Given the description of an element on the screen output the (x, y) to click on. 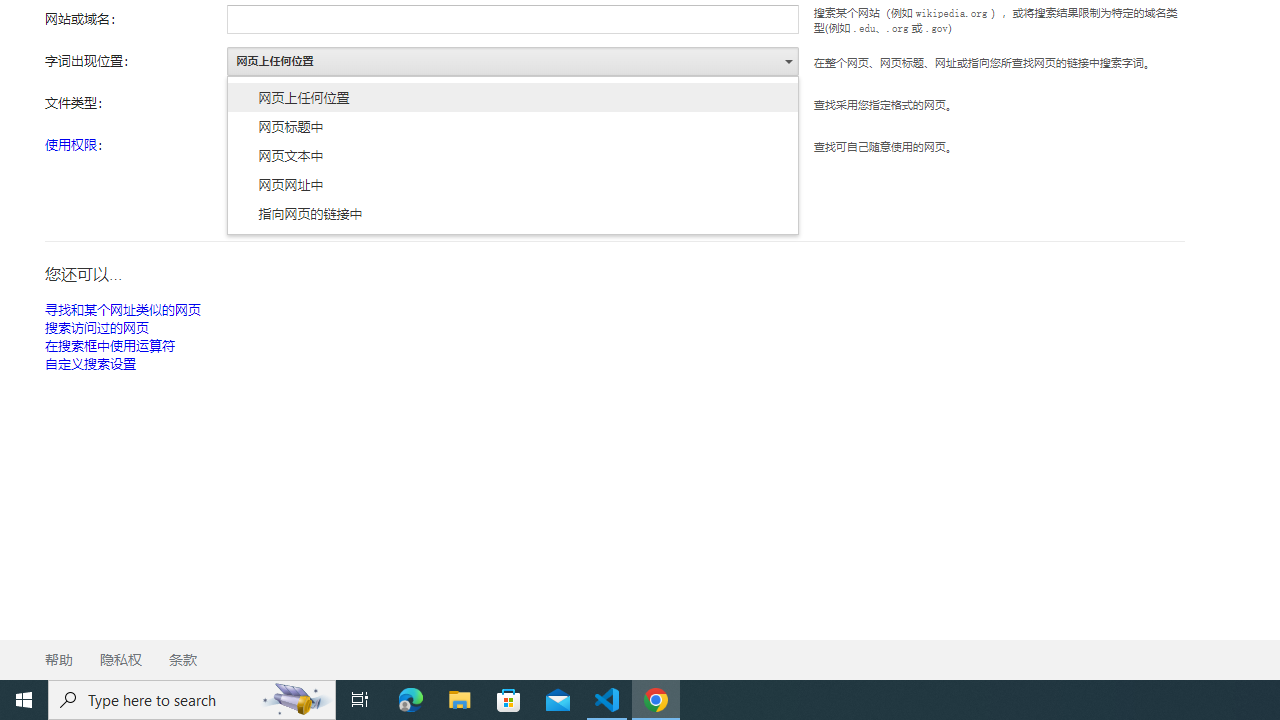
AutomationID: as_occt_menu (513, 155)
